Given the description of an element on the screen output the (x, y) to click on. 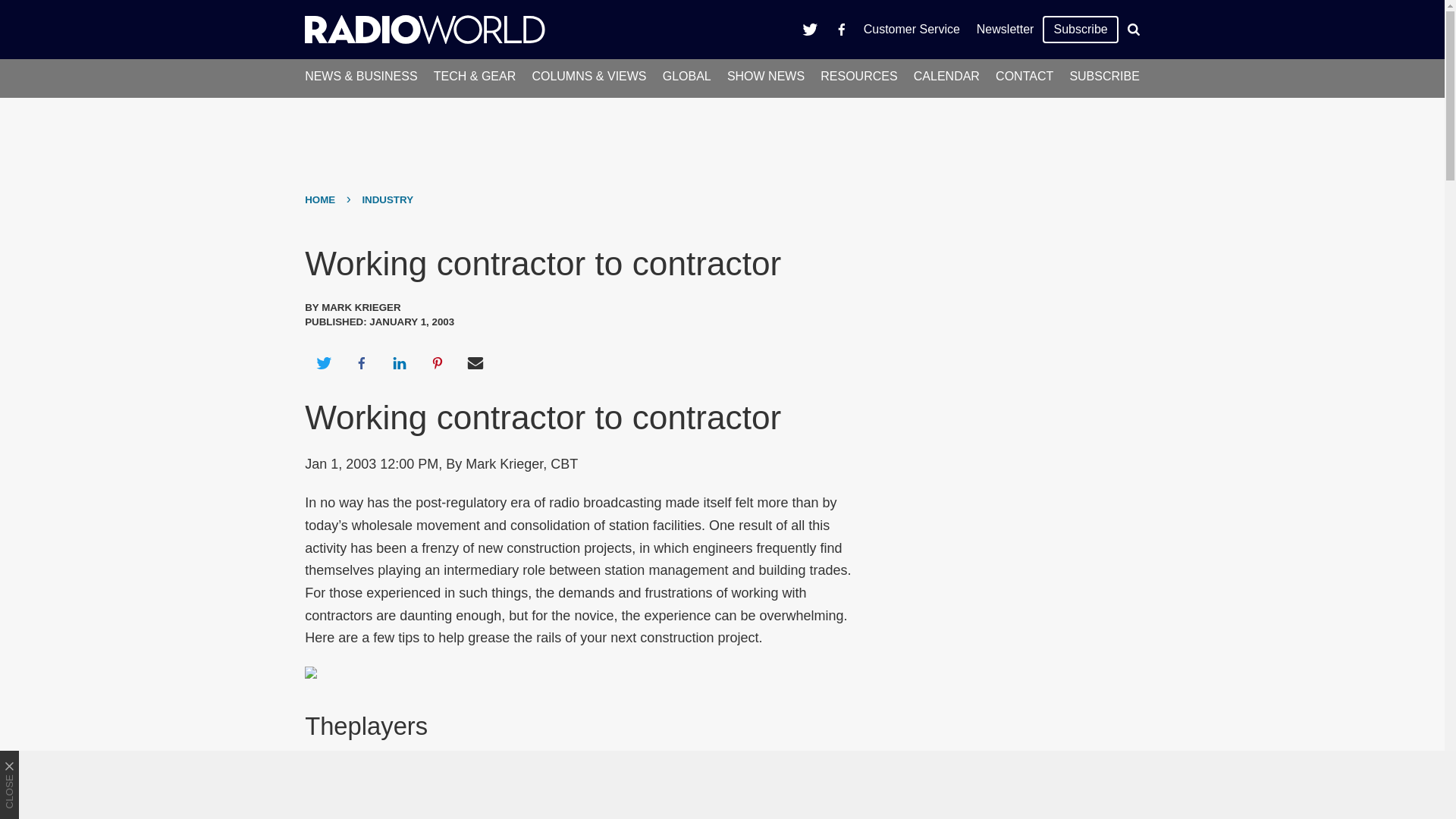
Share on Pinterest (438, 362)
Share on LinkedIn (399, 362)
Share on Twitter (323, 362)
Share via Email (476, 362)
Customer Service (912, 29)
Share on Facebook (361, 362)
